Given the description of an element on the screen output the (x, y) to click on. 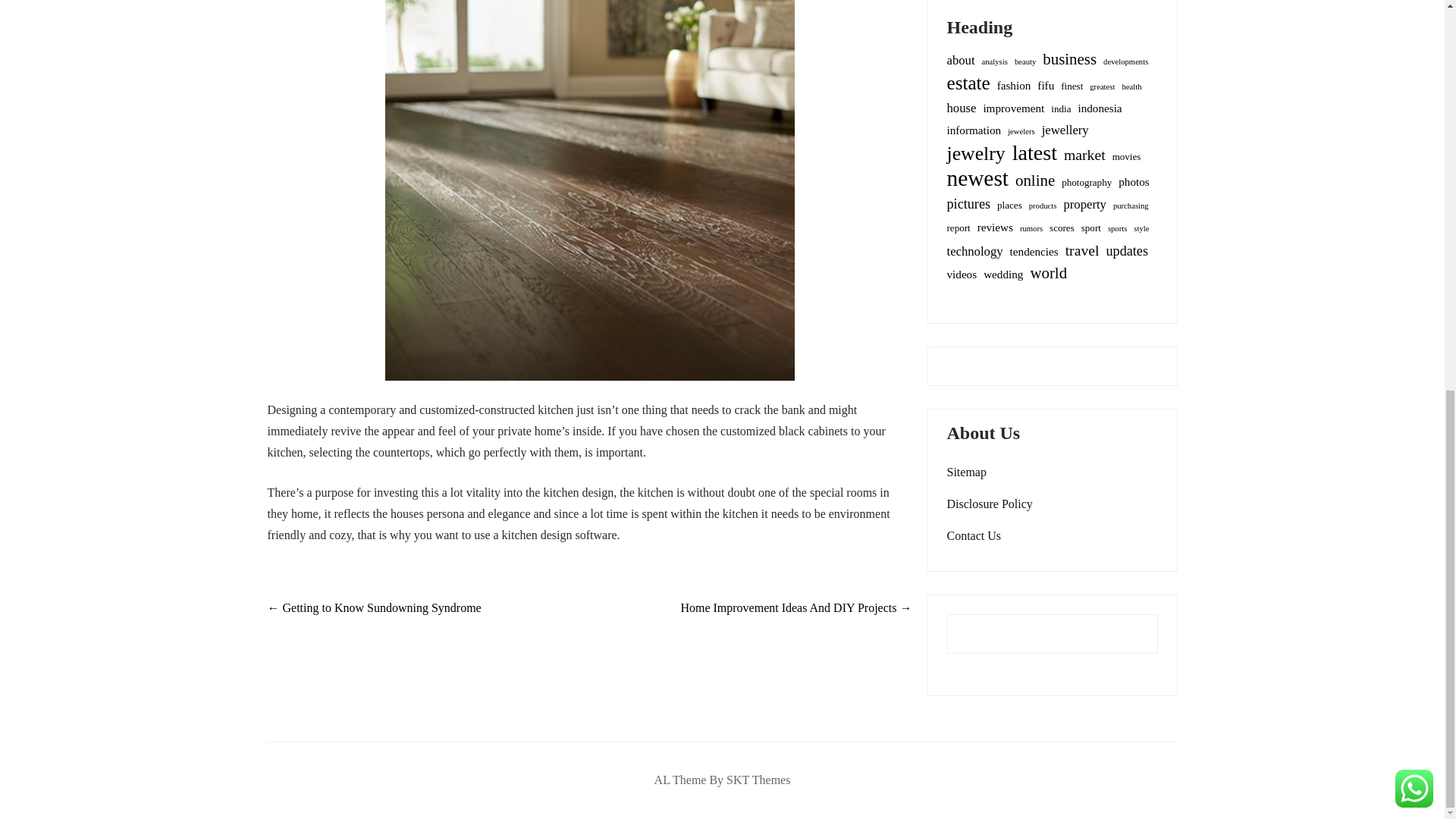
health (1131, 86)
market (1084, 154)
developments (1125, 61)
fashion (1013, 85)
jewellery (1065, 129)
business (1069, 58)
estate (968, 83)
analysis (994, 61)
indonesia (1099, 107)
about (960, 60)
